Given the description of an element on the screen output the (x, y) to click on. 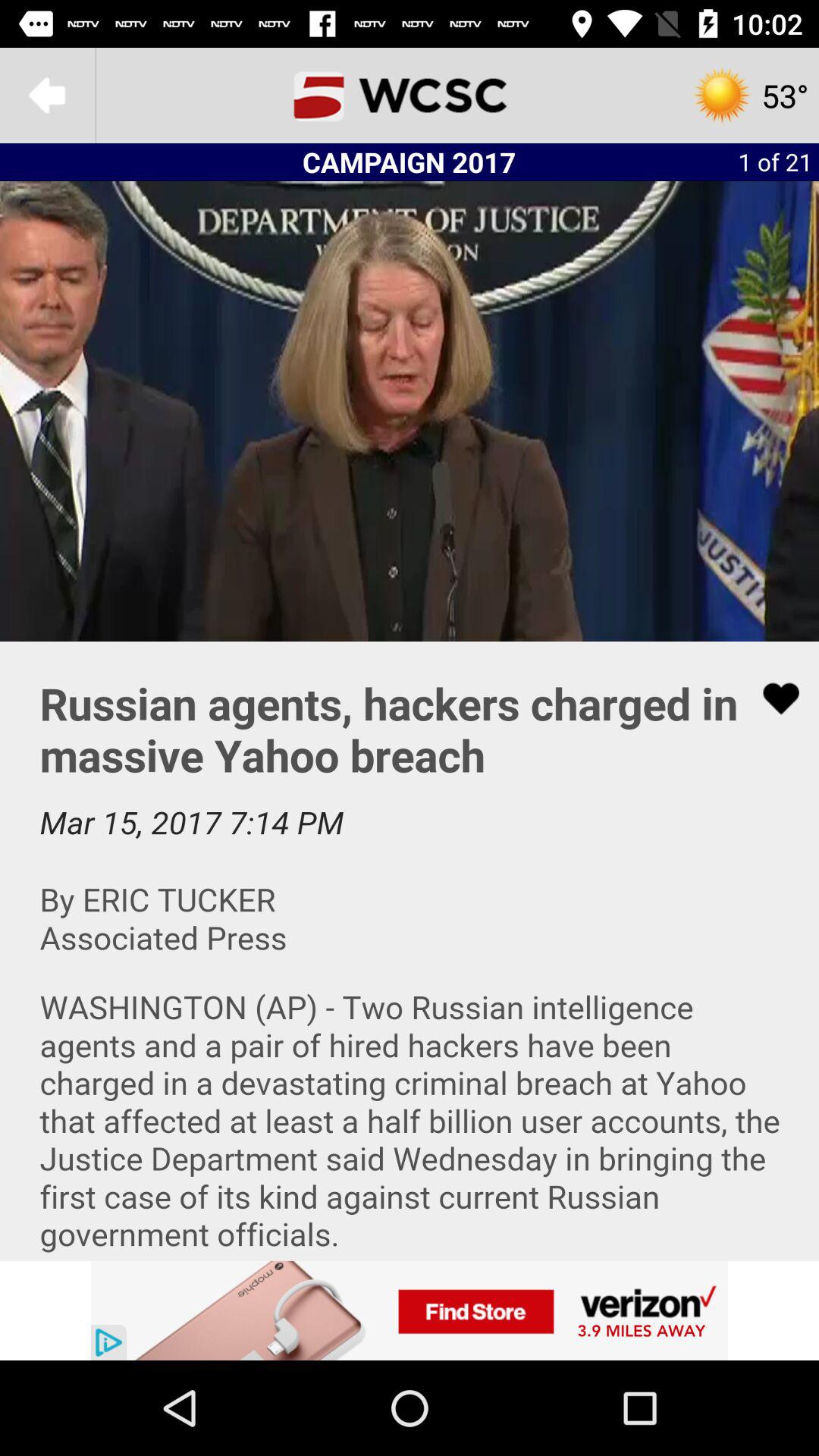
visit verizon (409, 1310)
